Given the description of an element on the screen output the (x, y) to click on. 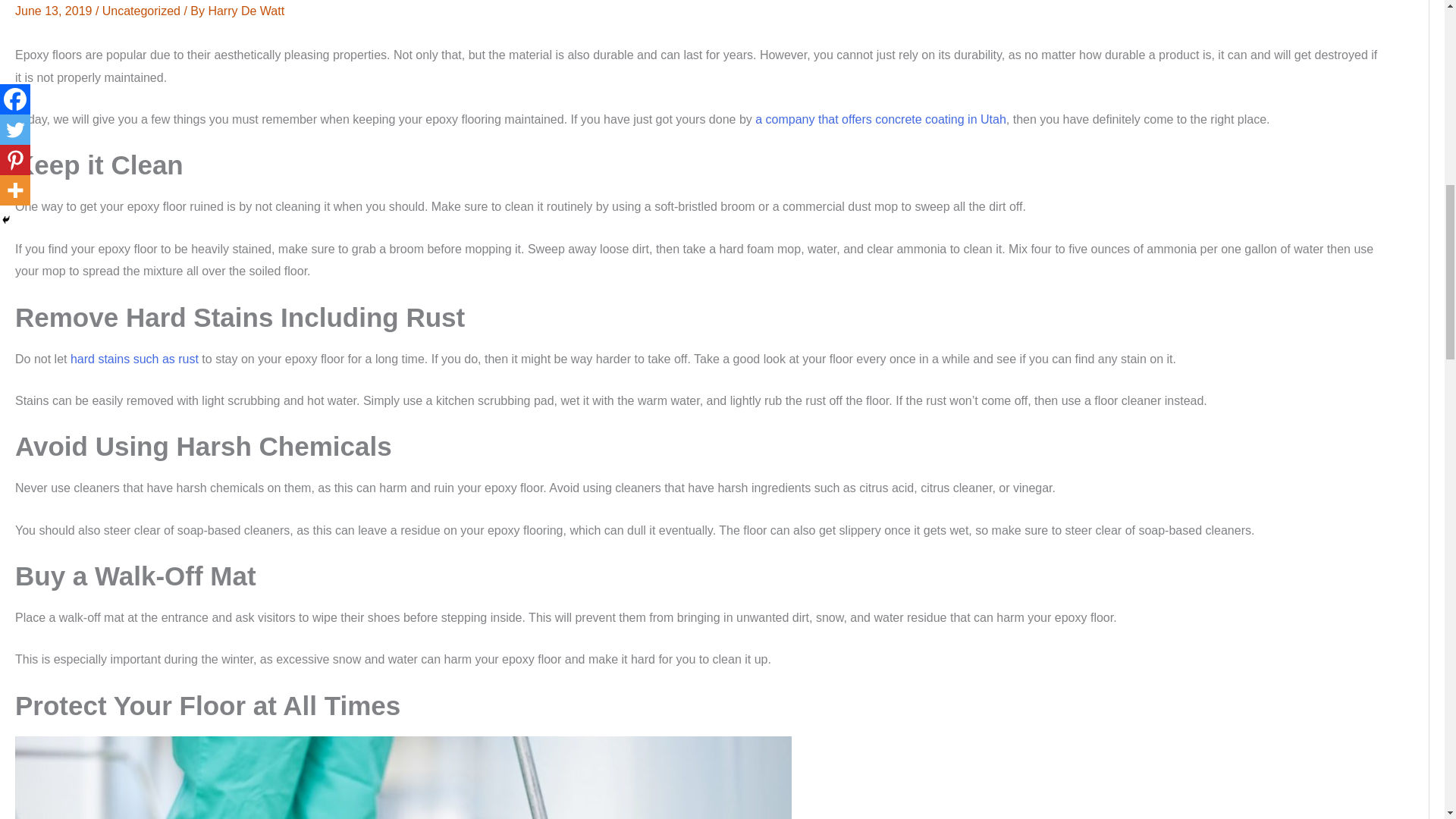
hard stains such as rust (133, 358)
SFGate (133, 358)
Summit Coatings LLC (880, 119)
View all posts by Harry De Watt (245, 10)
Harry De Watt (245, 10)
Uncategorized (140, 10)
a company that offers concrete coating in Utah (880, 119)
